Given the description of an element on the screen output the (x, y) to click on. 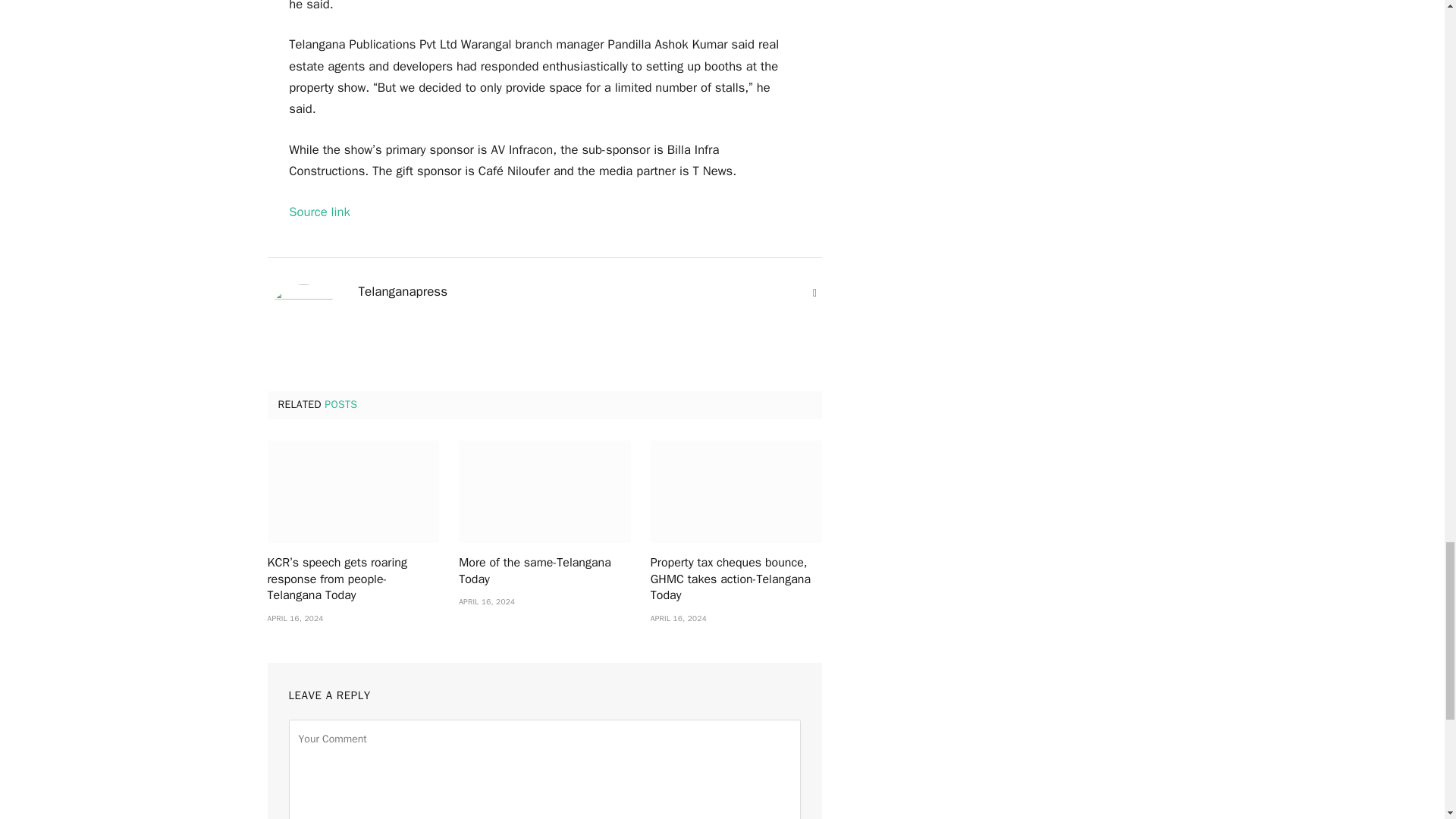
More of the same-Telangana Today (544, 571)
Website (814, 293)
Website (814, 293)
More of the same-Telangana Today (544, 491)
Telanganapress (402, 291)
Source link (319, 211)
Posts by Telanganapress (402, 291)
